Given the description of an element on the screen output the (x, y) to click on. 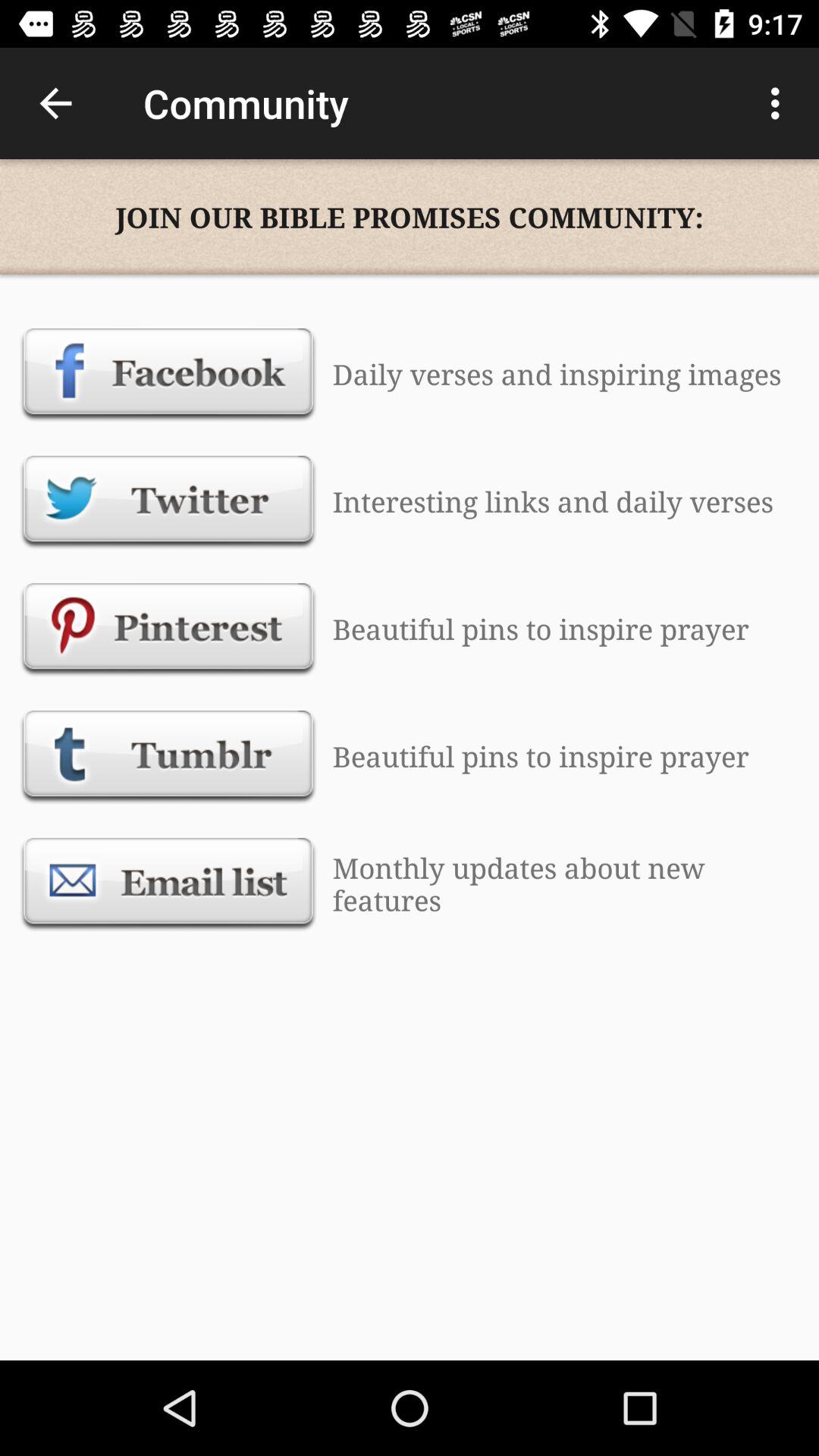
tap item above the join our bible icon (779, 103)
